Given the description of an element on the screen output the (x, y) to click on. 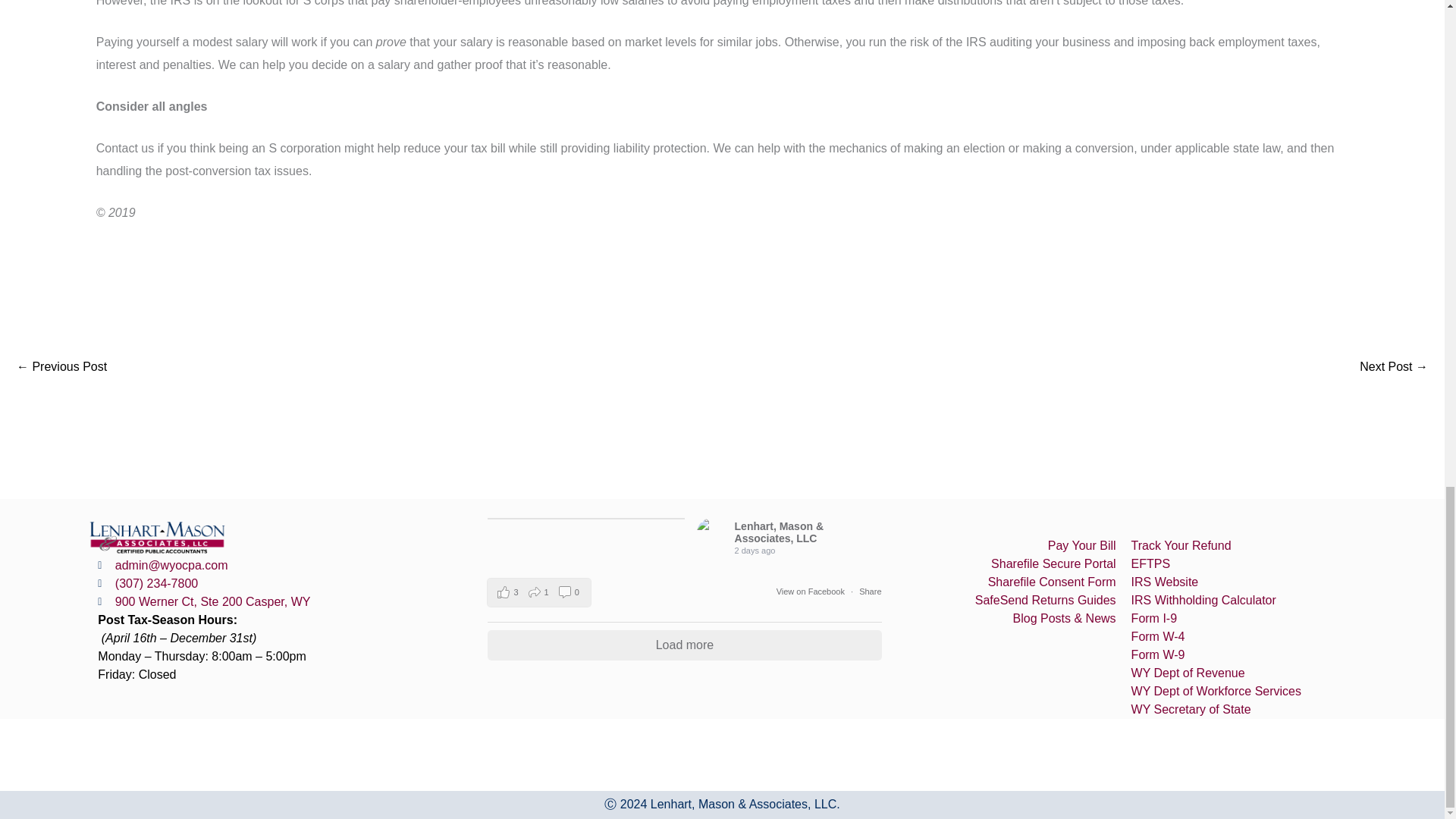
Share (869, 591)
The tax implications of a company car (1393, 367)
View on Facebook (811, 591)
900 Werner Ct, Ste 200 Casper, WY (288, 601)
